Given the description of an element on the screen output the (x, y) to click on. 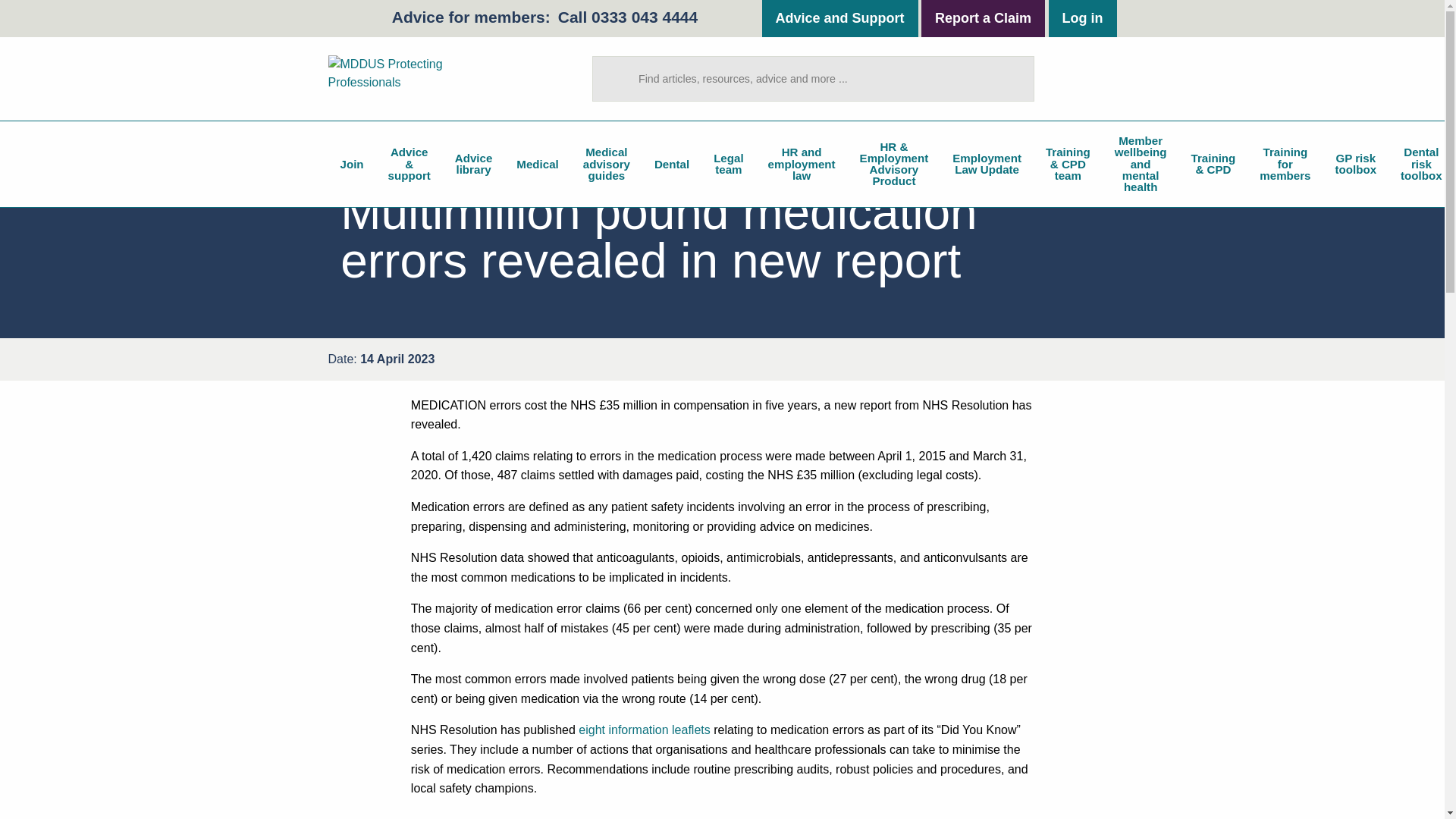
Search (1016, 78)
Legal team (728, 164)
Search (1016, 78)
Training for members (1284, 164)
Member wellbeing and mental health (1140, 164)
Log in (1082, 18)
Report a Claim (983, 18)
Advice for members:Call 0333 043 4444 (544, 17)
Join (351, 164)
GP risk toolbox (1356, 164)
Home  (418, 78)
Advice library (473, 164)
Medical (536, 164)
Advice and Support (839, 18)
HR and employment law (801, 164)
